Given the description of an element on the screen output the (x, y) to click on. 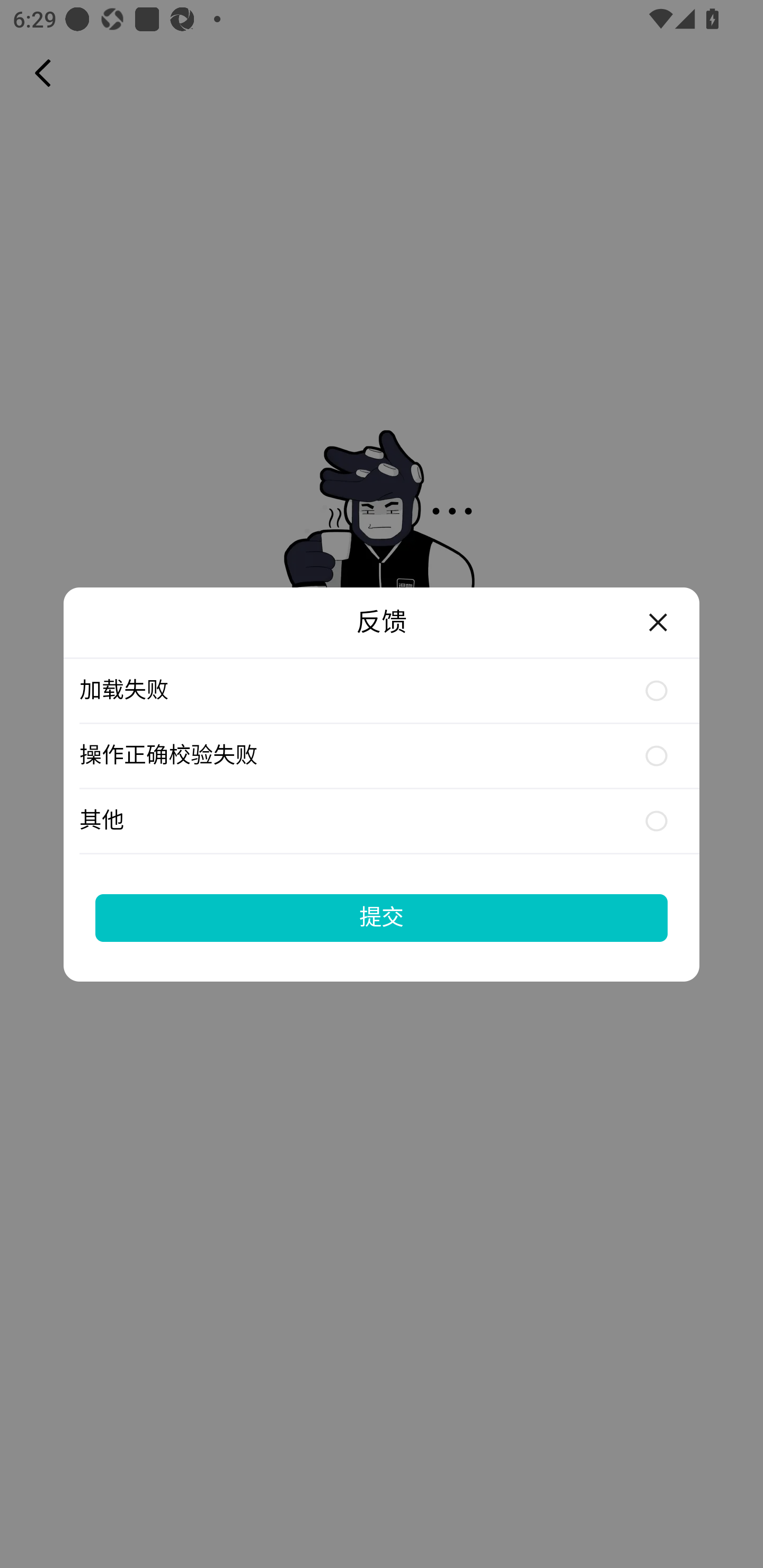
提交 (381, 917)
